Given the description of an element on the screen output the (x, y) to click on. 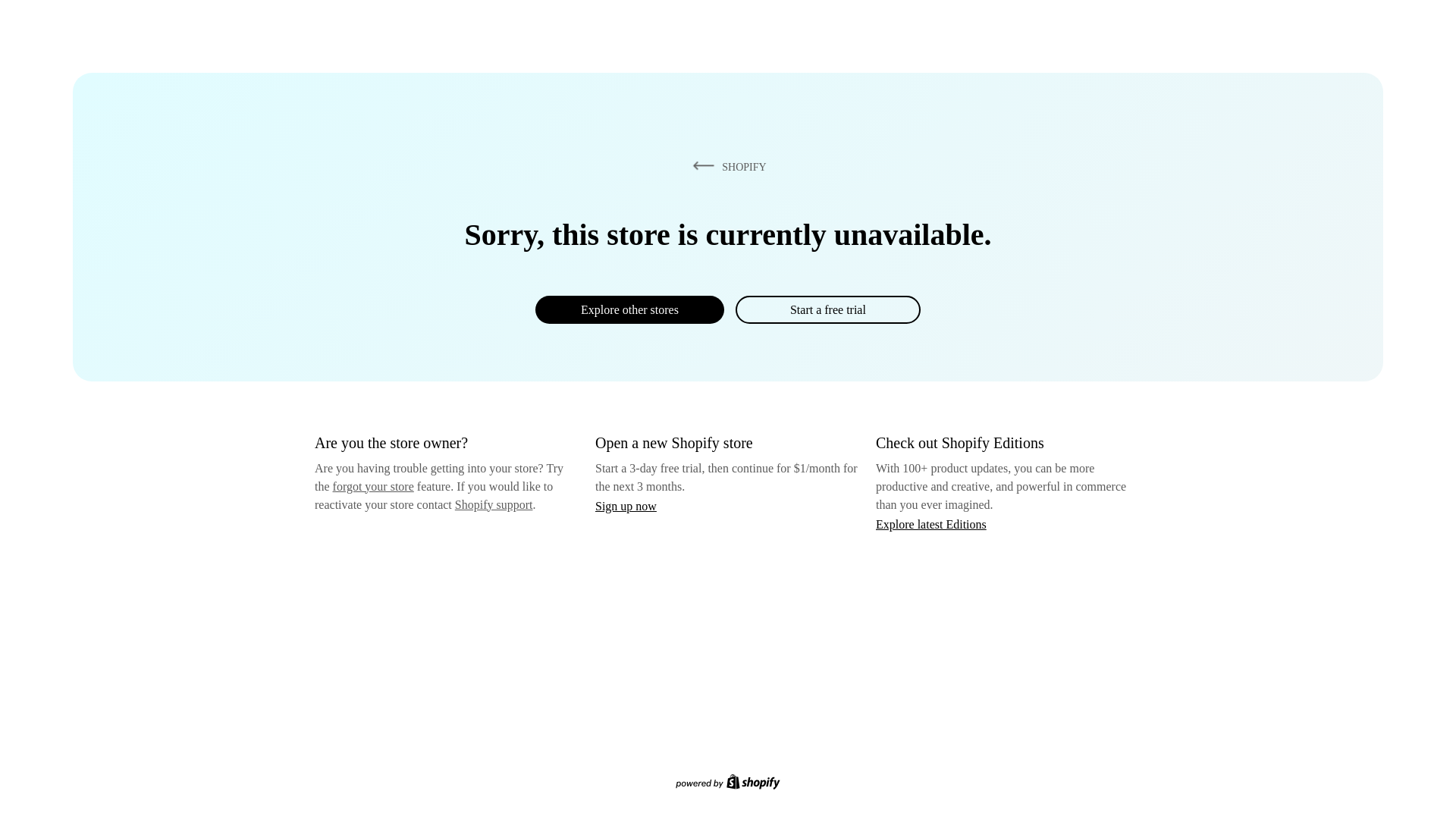
Explore other stores (629, 309)
Shopify support (493, 504)
Start a free trial (827, 309)
Explore latest Editions (931, 523)
Sign up now (625, 505)
SHOPIFY (726, 166)
forgot your store (373, 486)
